Given the description of an element on the screen output the (x, y) to click on. 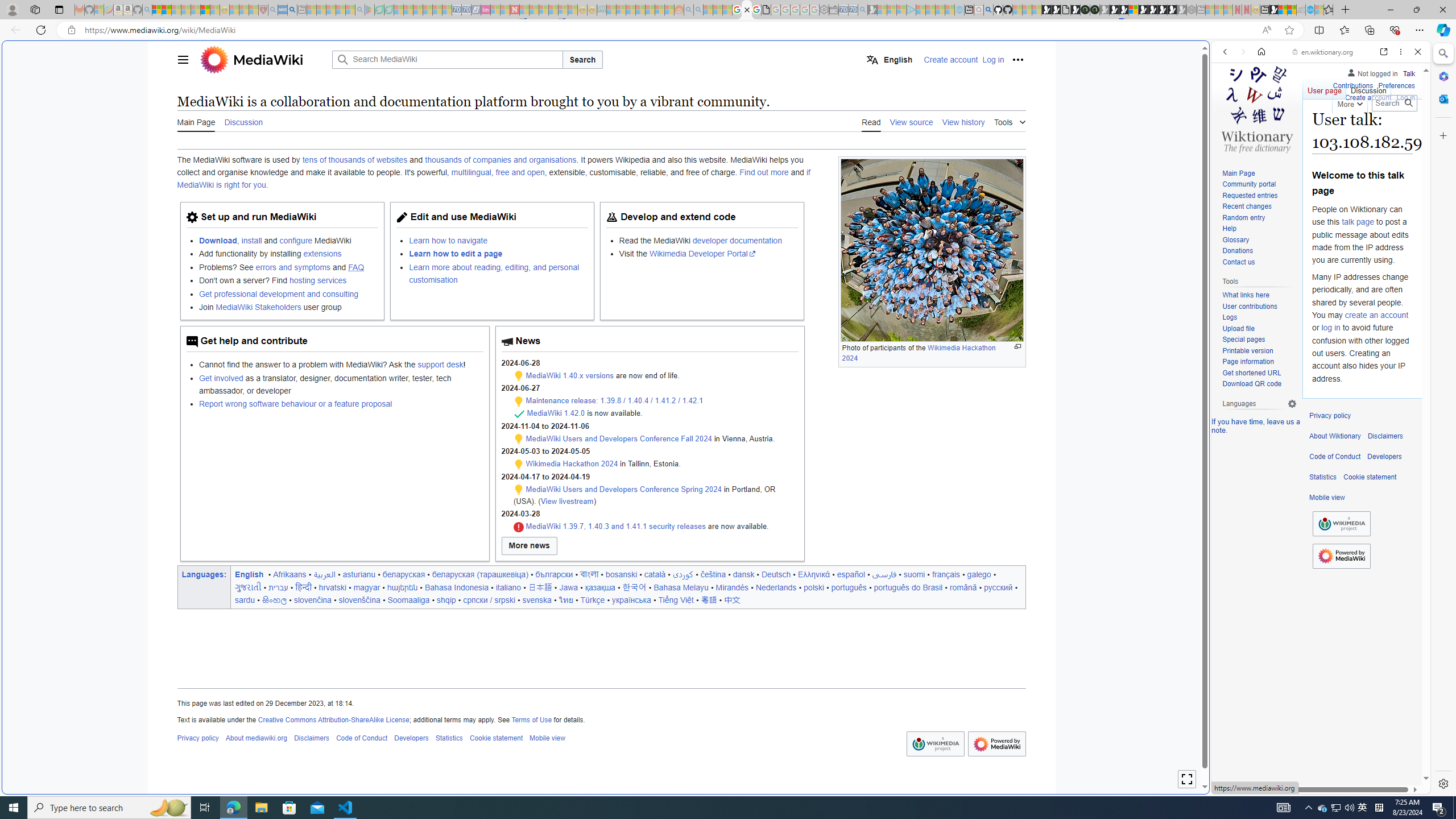
User contributions (1248, 306)
Visit the Wikimedia Developer Portal (707, 253)
hosting services (317, 280)
Get involved (220, 377)
If you have time, leave us a note. (1255, 425)
Earth has six continents not seven, radical new study claims (1291, 9)
Terms of Use (531, 719)
English (889, 59)
Main Page (1259, 173)
Join MediaWiki Stakeholders user group (288, 306)
